Given the description of an element on the screen output the (x, y) to click on. 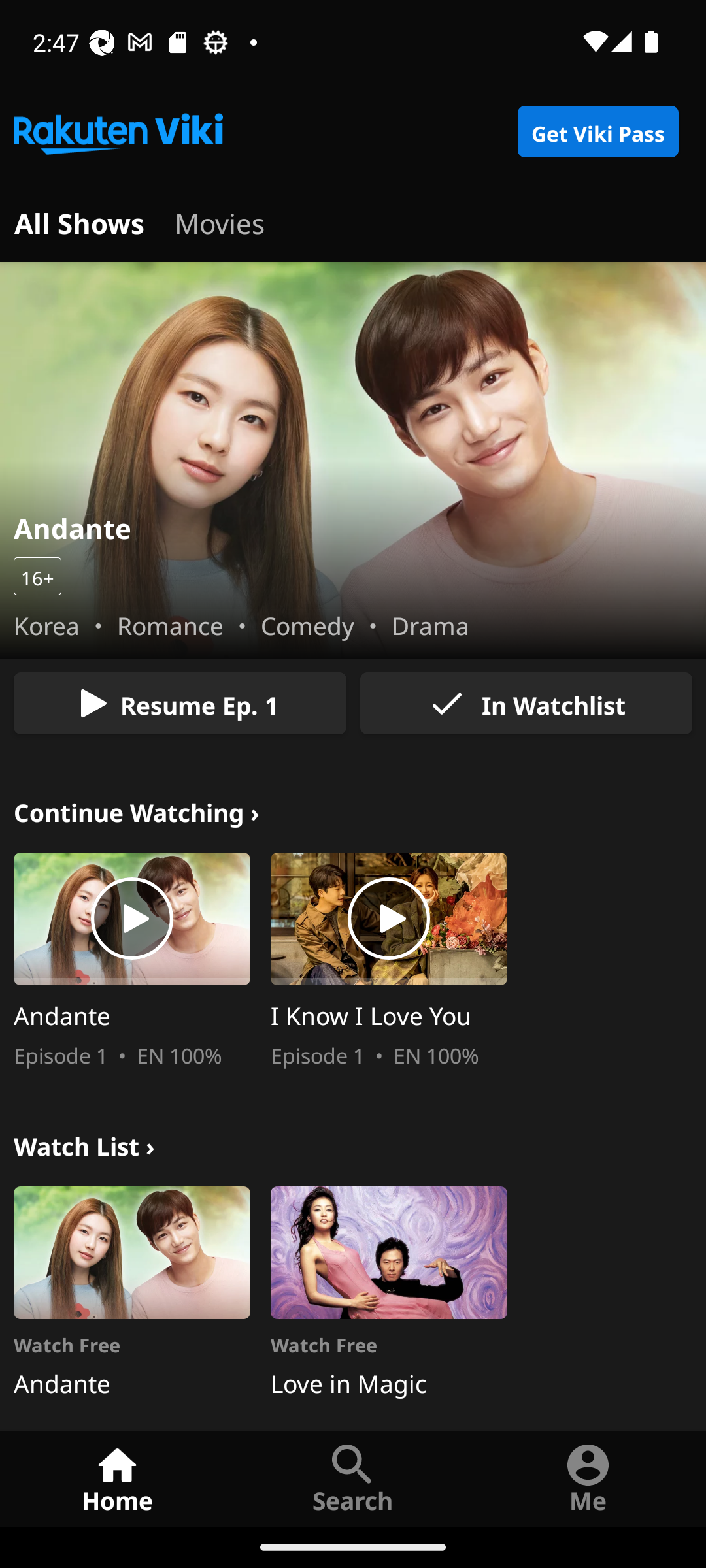
Get Viki Pass (597, 131)
home_tab_movies Movies (219, 220)
Resume Ep. 1 home_billboard_play_button (179, 702)
In Watchlist home_billboard_in_watchlist_button (526, 702)
Continue Watching › continue_watching (136, 809)
Watch List › watch_list (84, 1143)
Search (352, 1478)
Me (588, 1478)
